Given the description of an element on the screen output the (x, y) to click on. 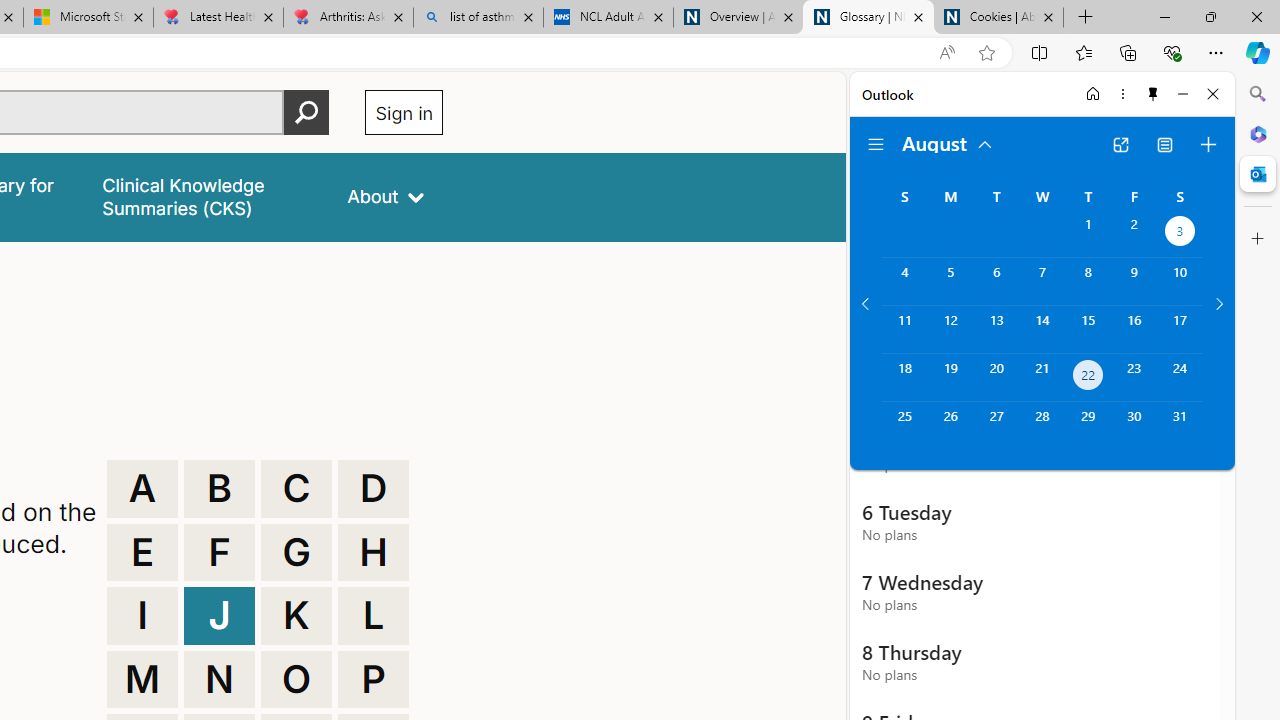
Monday, August 19, 2024.  (950, 377)
Sunday, August 11, 2024.  (904, 329)
D (373, 488)
K (296, 615)
Friday, August 16, 2024.  (1134, 329)
Wednesday, August 28, 2024.  (1042, 425)
Saturday, August 24, 2024.  (1180, 377)
Friday, August 30, 2024.  (1134, 425)
Thursday, August 8, 2024.  (1088, 281)
